Given the description of an element on the screen output the (x, y) to click on. 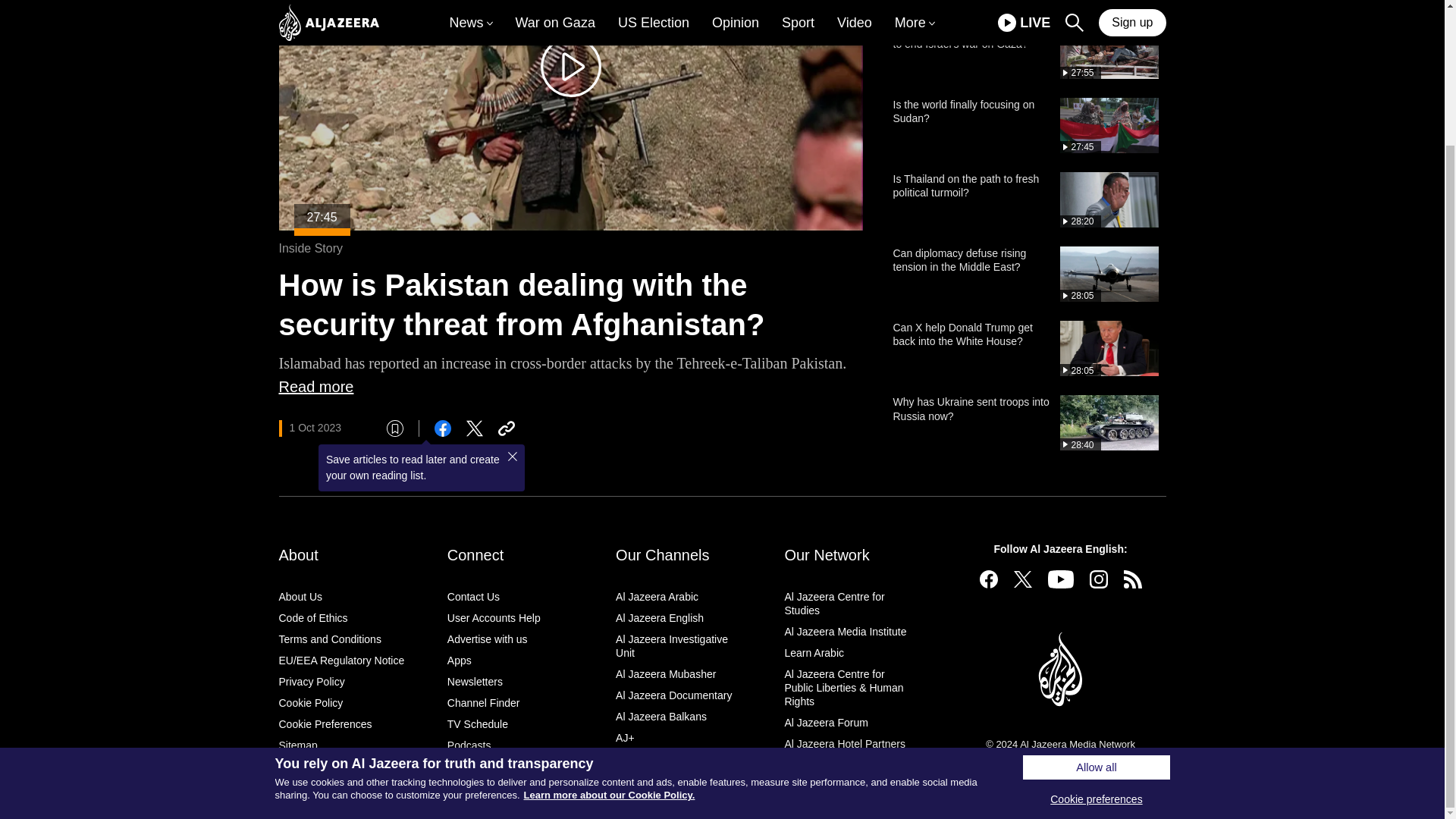
twitter (1022, 579)
Read more (316, 386)
Close Tooltip (512, 456)
copylink (506, 428)
play video (569, 66)
twitter (474, 428)
facebook (442, 428)
facebook-f-dark (988, 579)
Inside Story (310, 247)
